Given the description of an element on the screen output the (x, y) to click on. 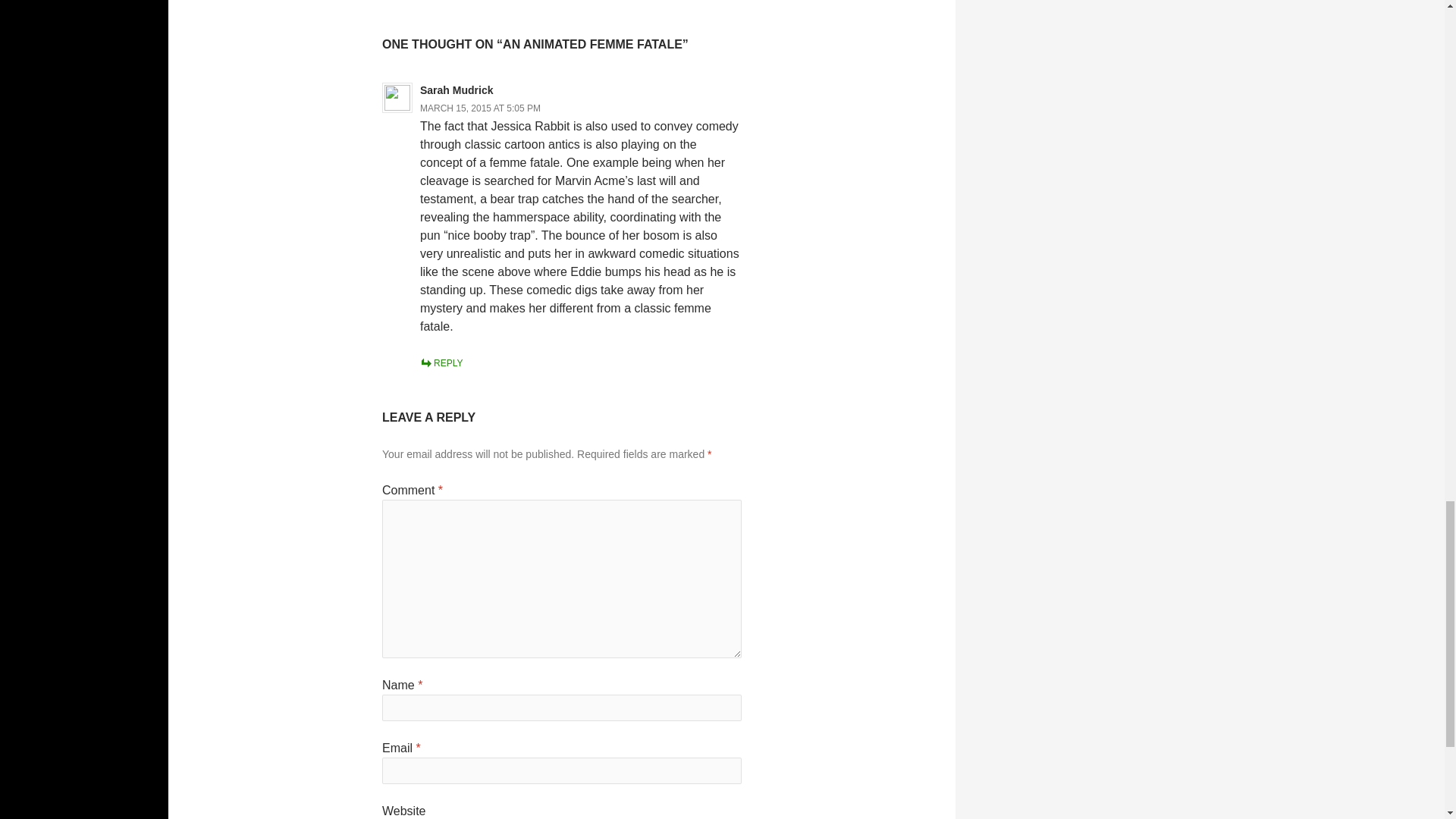
MARCH 15, 2015 AT 5:05 PM (480, 108)
REPLY (441, 362)
